Given the description of an element on the screen output the (x, y) to click on. 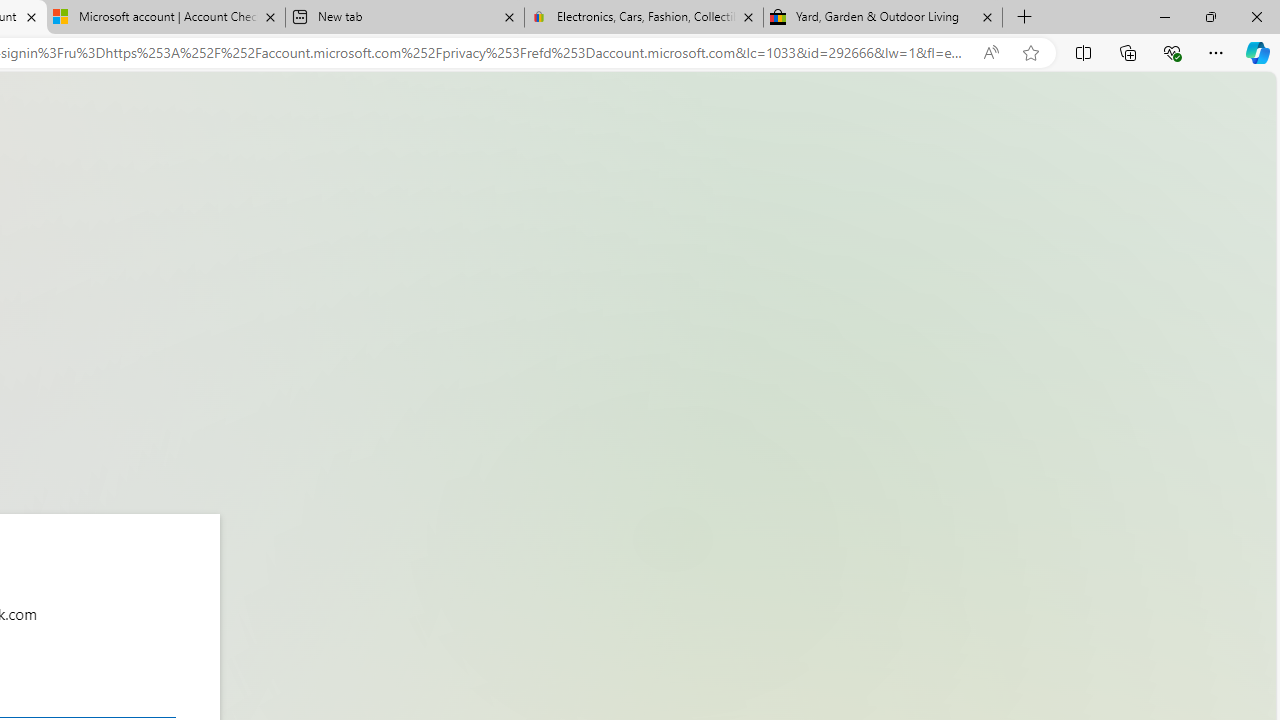
Yard, Garden & Outdoor Living (883, 17)
Microsoft account | Account Checkup (166, 17)
